Given the description of an element on the screen output the (x, y) to click on. 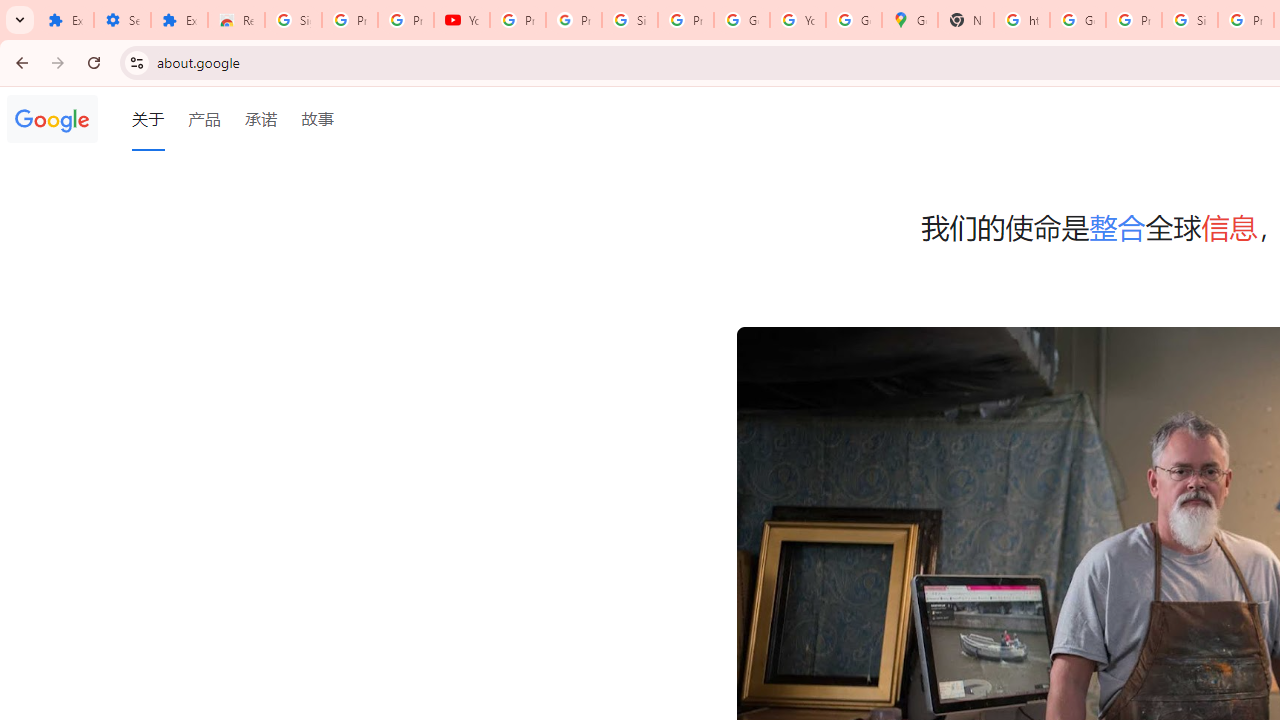
Google Account (742, 20)
Extensions (65, 20)
Extensions (179, 20)
Reviews: Helix Fruit Jump Arcade Game (235, 20)
Settings (122, 20)
YouTube (461, 20)
